Given the description of an element on the screen output the (x, y) to click on. 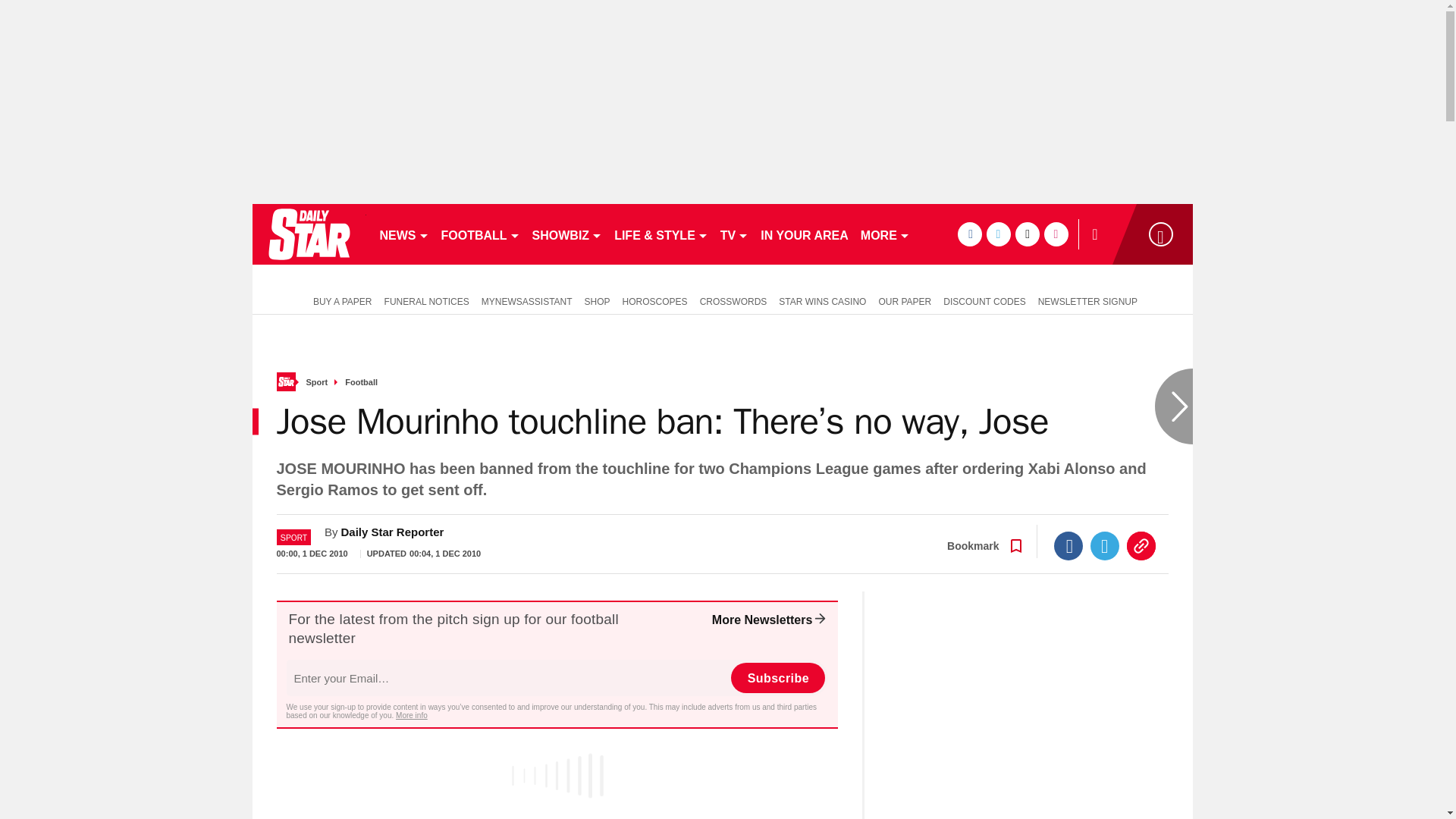
twitter (997, 233)
tiktok (1026, 233)
instagram (1055, 233)
SHOWBIZ (566, 233)
dailystar (308, 233)
NEWS (402, 233)
Twitter (1104, 545)
Facebook (1068, 545)
facebook (968, 233)
FOOTBALL (480, 233)
